Given the description of an element on the screen output the (x, y) to click on. 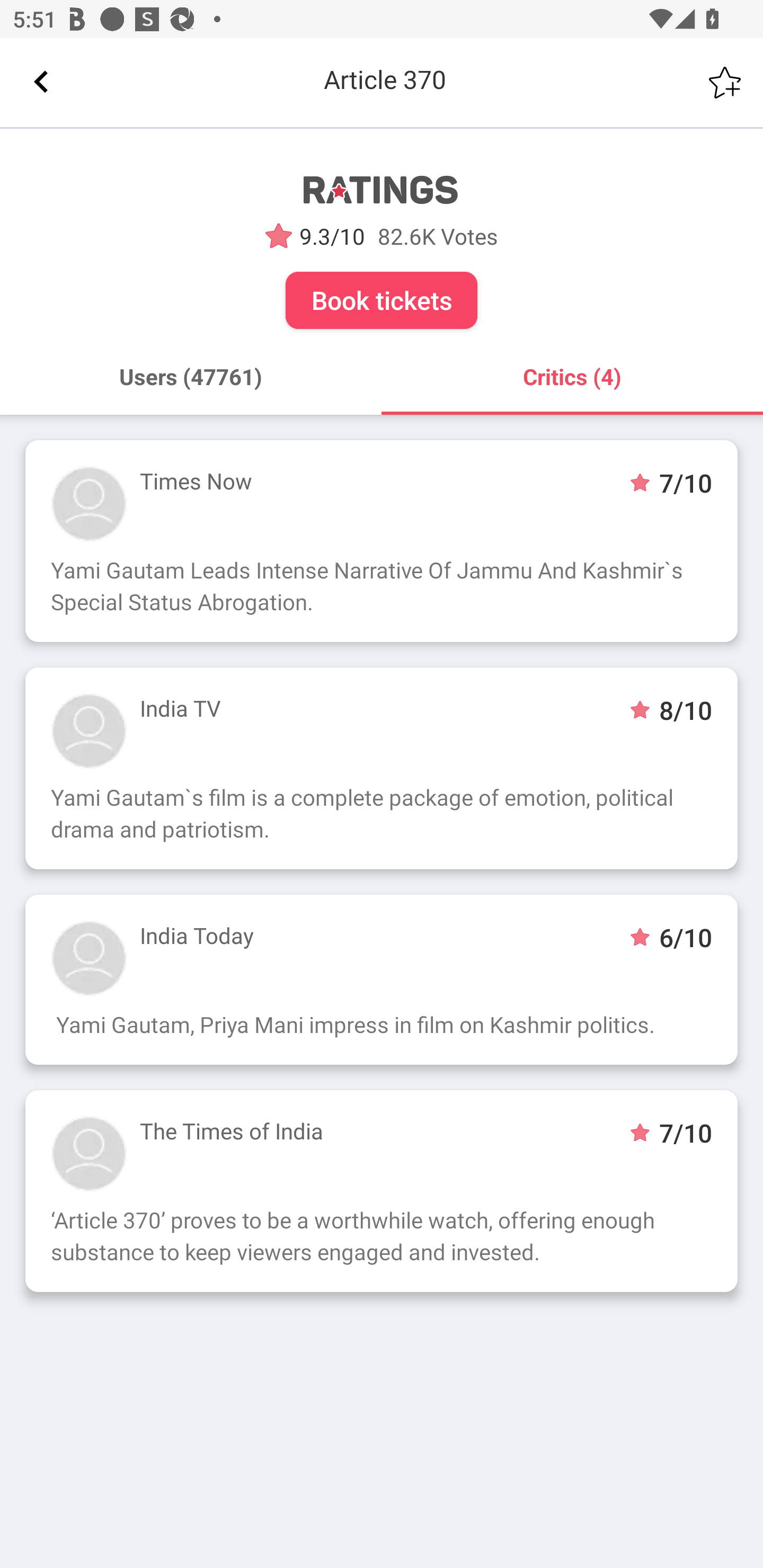
Back (41, 82)
Book tickets (381, 299)
Users (47761) (190, 376)
